Given the description of an element on the screen output the (x, y) to click on. 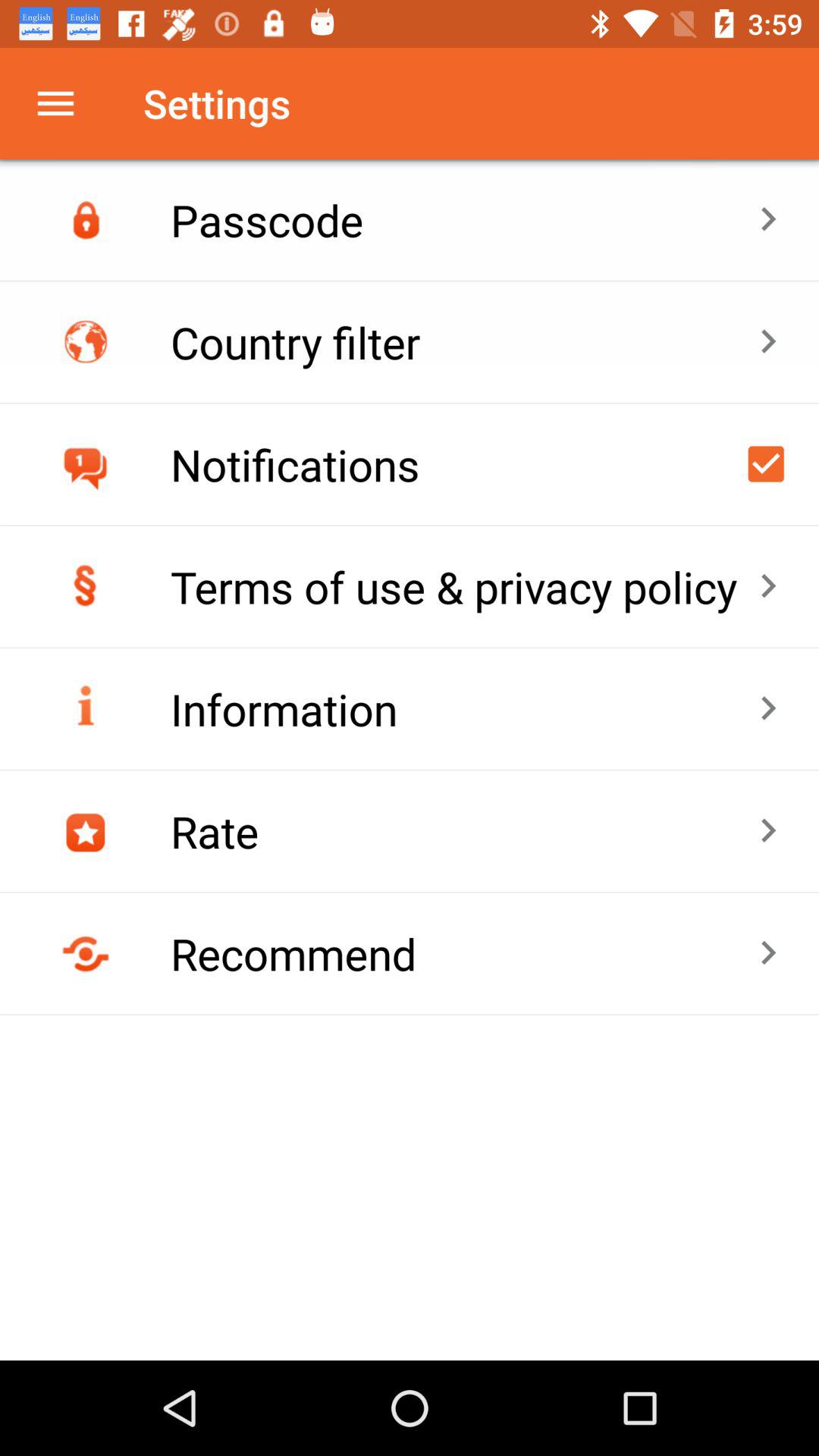
click the icon below rate (464, 953)
